Given the description of an element on the screen output the (x, y) to click on. 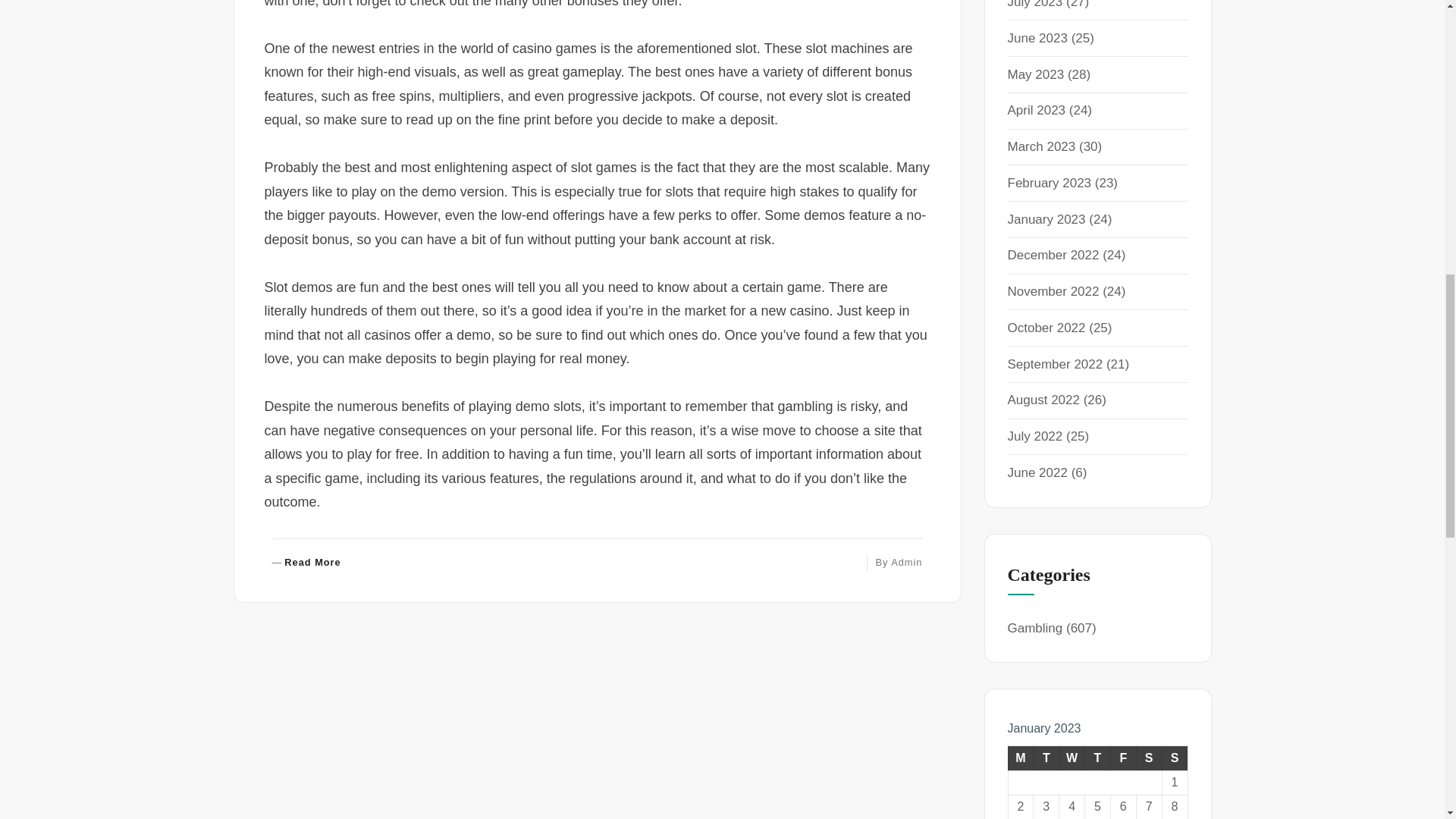
Admin (906, 562)
Friday (1122, 758)
Monday (1020, 758)
Saturday (1148, 758)
July 2023 (1034, 4)
March 2023 (1041, 146)
February 2023 (1048, 183)
December 2022 (1053, 255)
Sunday (1174, 758)
November 2022 (1053, 291)
